Given the description of an element on the screen output the (x, y) to click on. 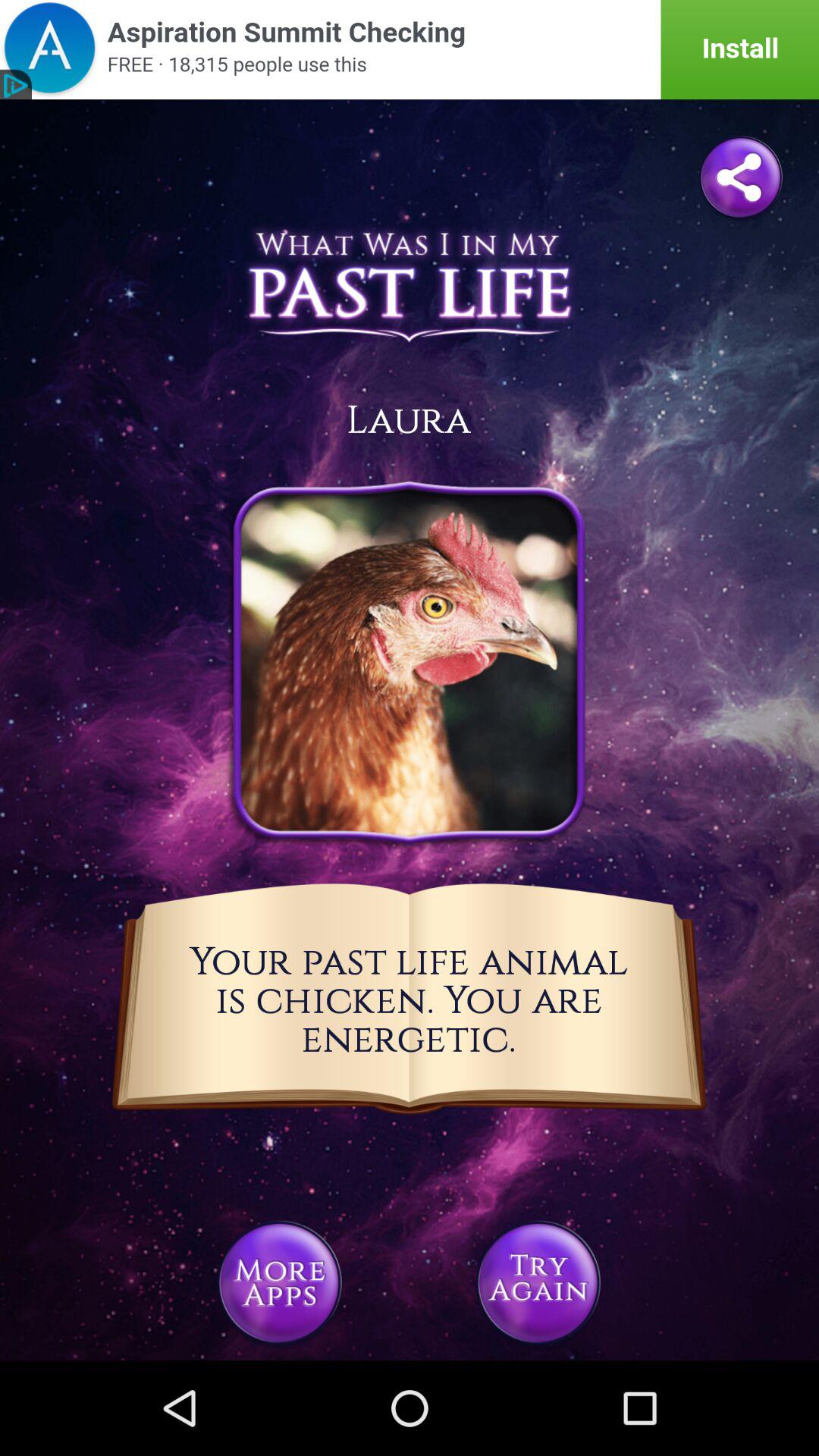
advertisement (409, 49)
